Given the description of an element on the screen output the (x, y) to click on. 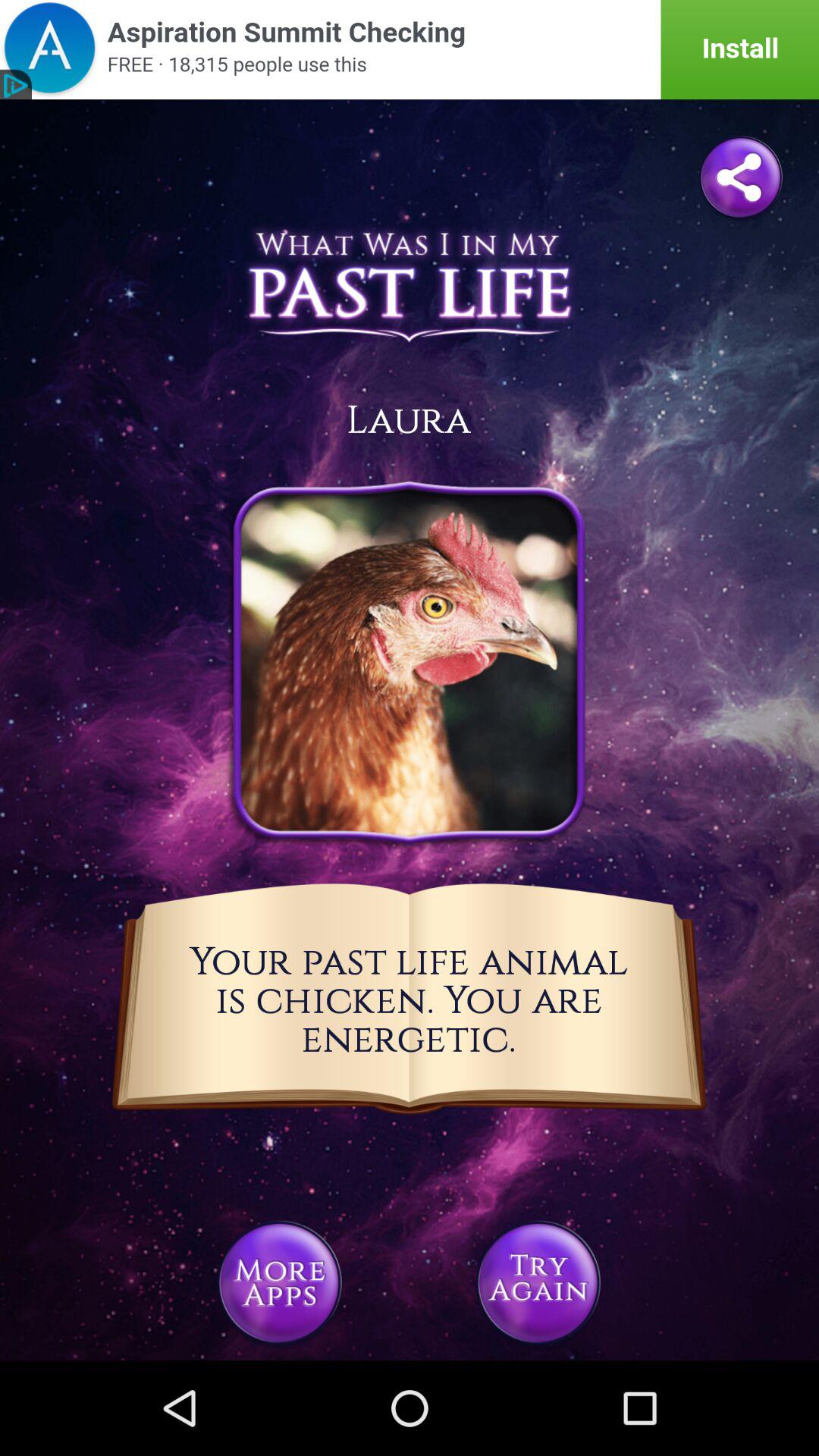
advertisement (409, 49)
